Given the description of an element on the screen output the (x, y) to click on. 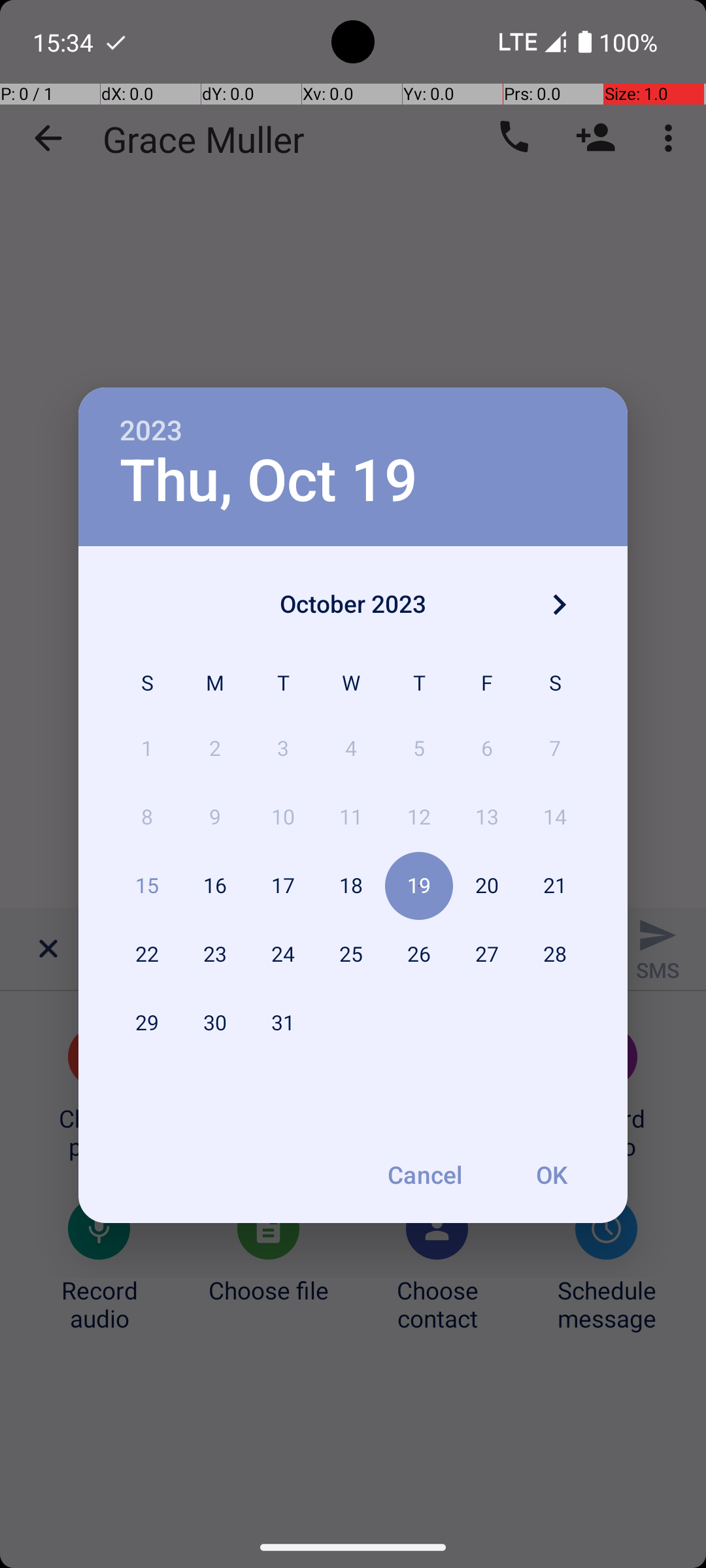
Thu, Oct 19 Element type: android.widget.TextView (268, 480)
